Given the description of an element on the screen output the (x, y) to click on. 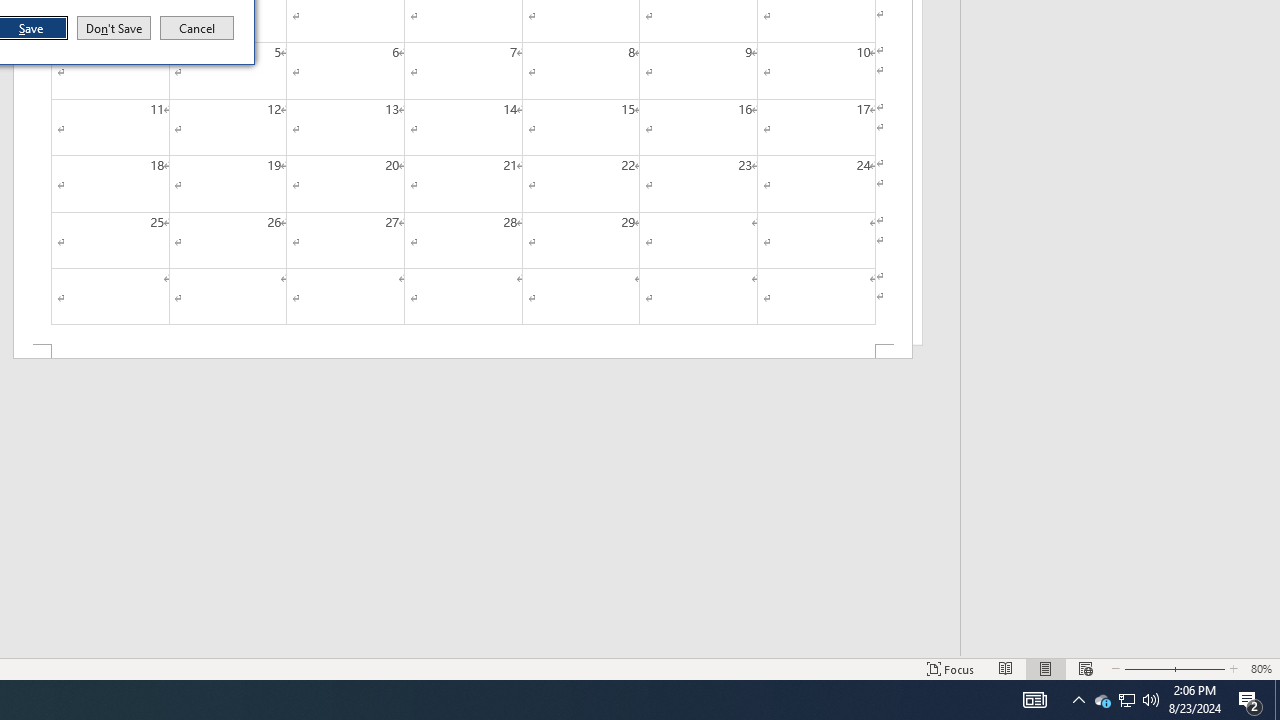
User Promoted Notification Area (1126, 699)
Action Center, 2 new notifications (1102, 699)
Q2790: 100% (1126, 699)
